Given the description of an element on the screen output the (x, y) to click on. 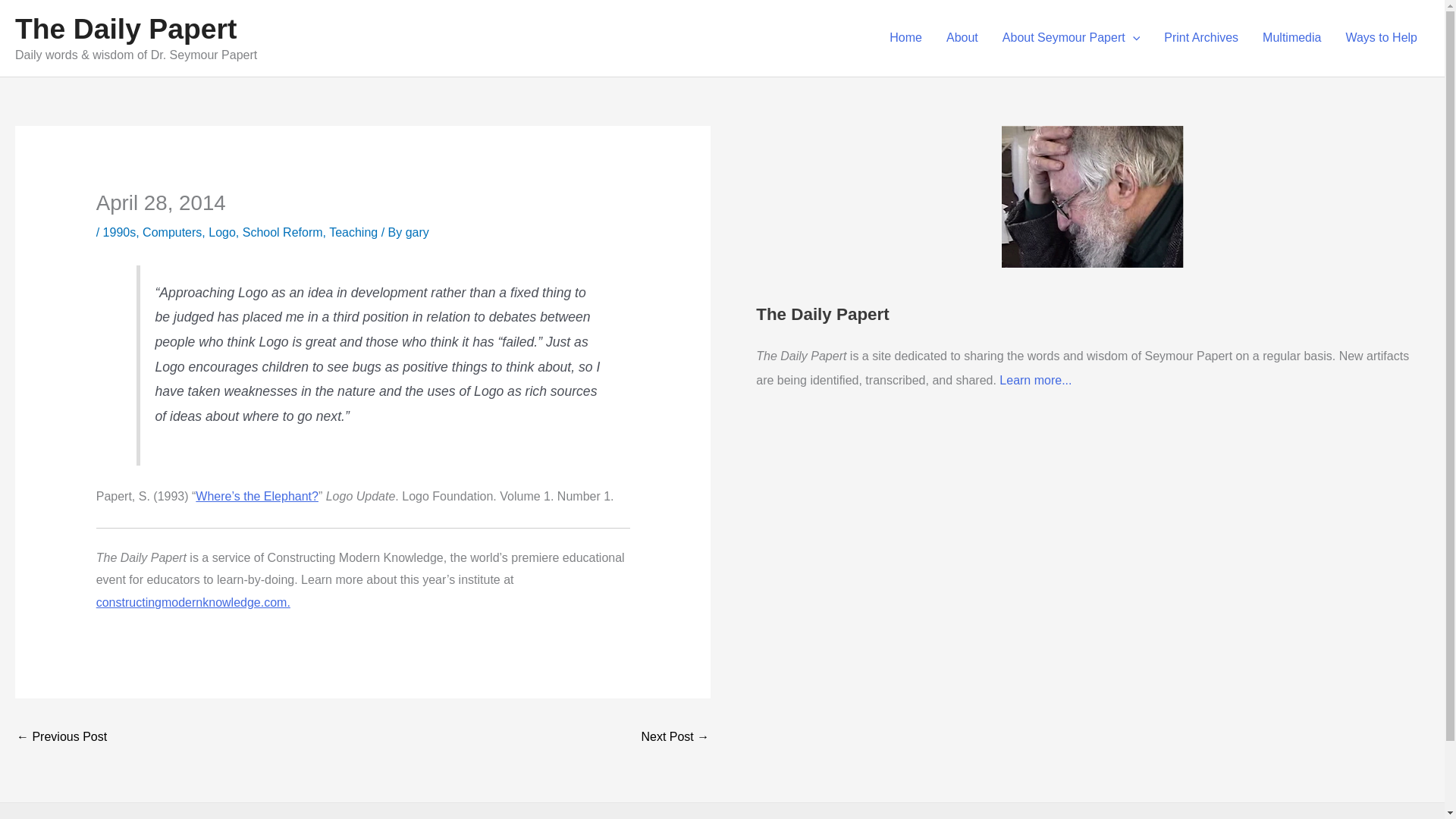
Complete article (256, 495)
View all posts by gary (417, 232)
Ways to Help (1381, 37)
About Seymour Papert (1070, 37)
About (962, 37)
Logo (221, 232)
Computers (172, 232)
Print Archives (1200, 37)
School Reform (283, 232)
Learn more... (1034, 379)
Multimedia (1291, 37)
constructingmodernknowledge.com. (192, 602)
The Daily Papert (125, 29)
Constructing Modern Knowledge 2014 (192, 602)
gary (417, 232)
